Given the description of an element on the screen output the (x, y) to click on. 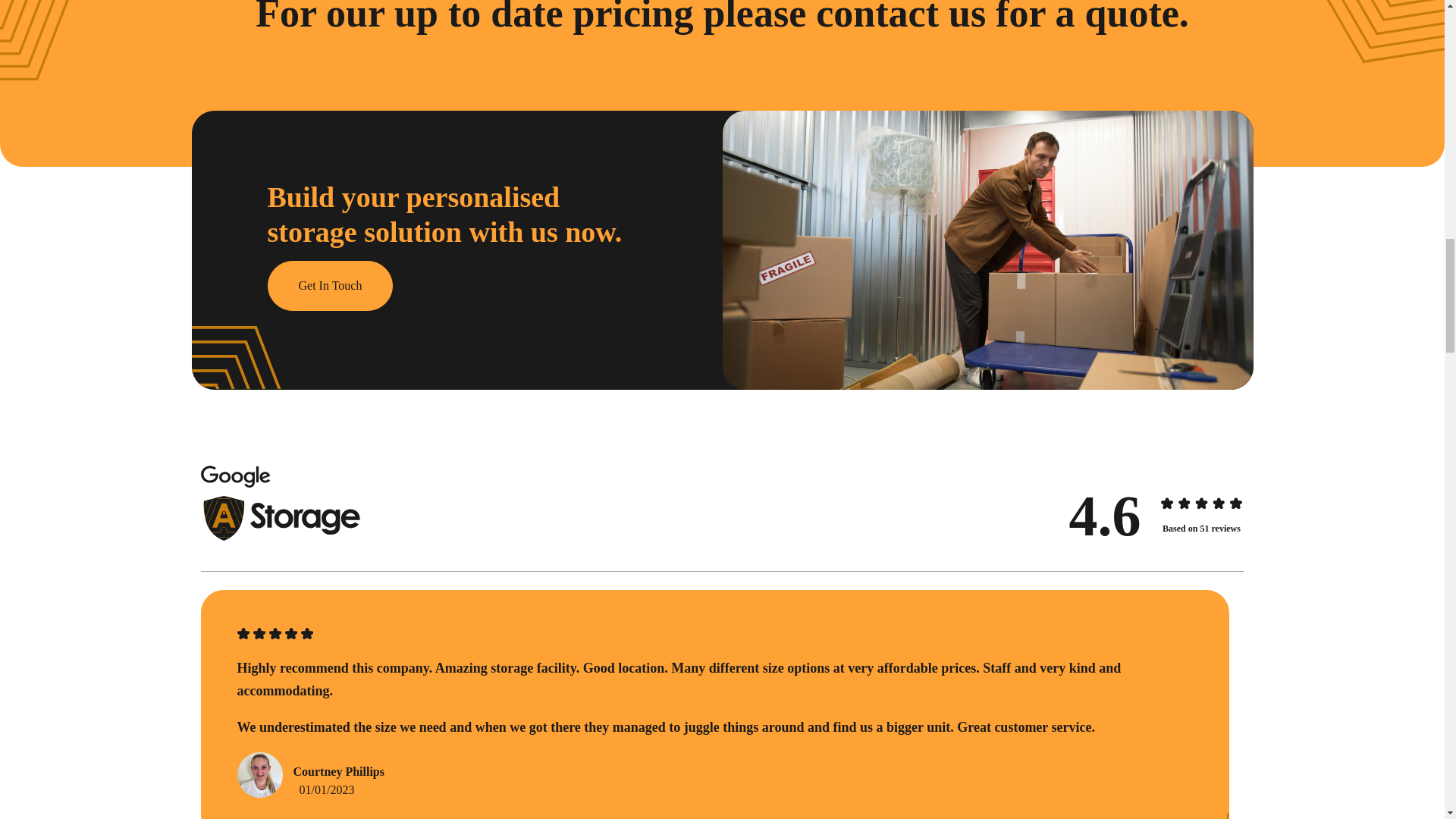
Get In Touch (329, 286)
